Given the description of an element on the screen output the (x, y) to click on. 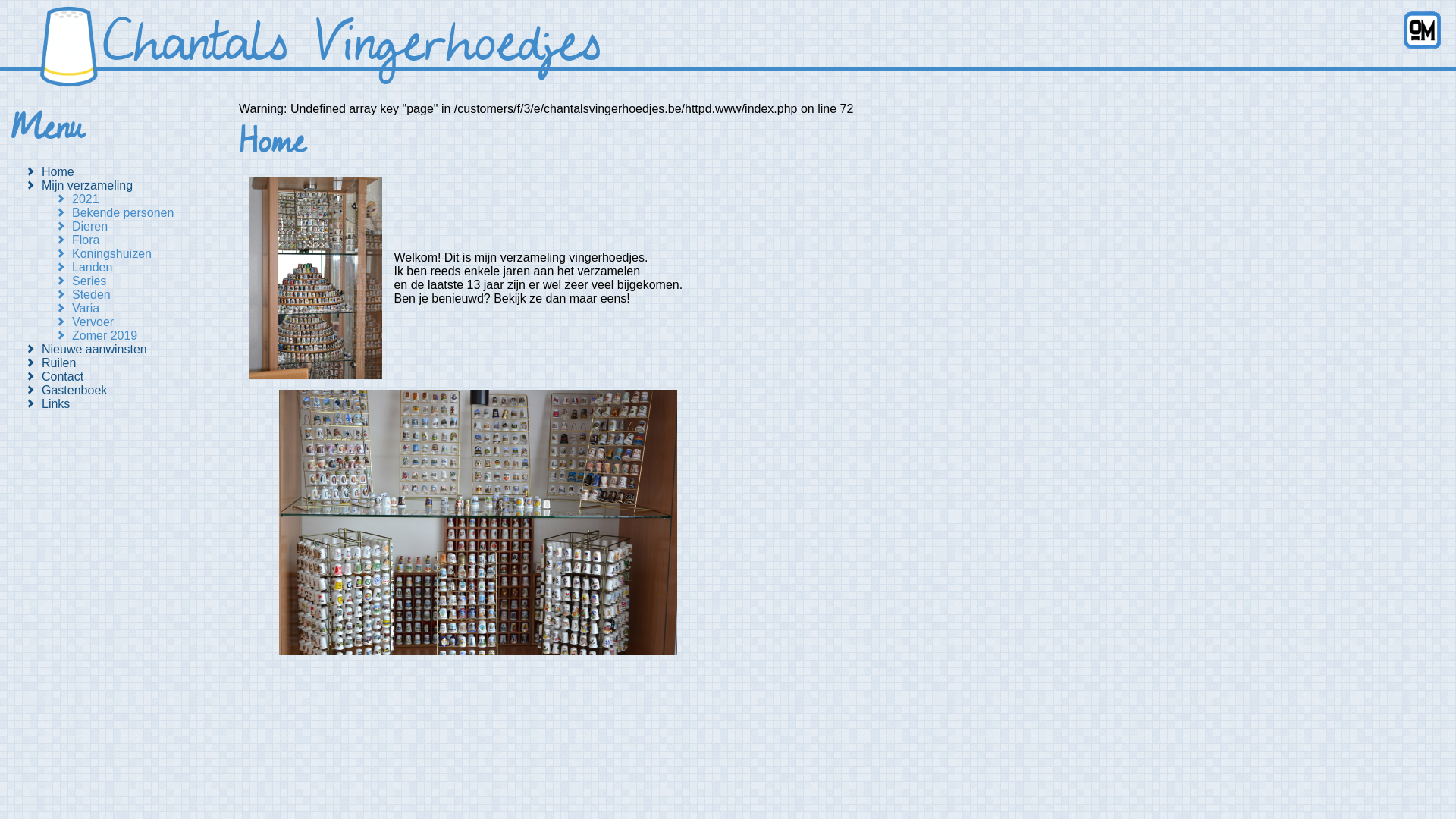
2021 Element type: text (144, 199)
Klik om te foto in het groot te openen. Element type: hover (462, 650)
Klik om te foto in het groot te openen. Element type: hover (315, 382)
Vervoer Element type: text (144, 322)
Dieren Element type: text (144, 226)
Landen Element type: text (144, 267)
Flora Element type: text (144, 240)
Mijn verzameling Element type: text (128, 185)
Links Element type: text (128, 404)
Zomer 2019 Element type: text (144, 335)
Home Element type: text (128, 171)
Nieuwe aanwinsten Element type: text (128, 349)
Contact Element type: text (128, 376)
Series Element type: text (144, 281)
Varia Element type: text (144, 308)
Gastenboek Element type: text (128, 390)
Bekende personen Element type: text (144, 212)
Ruilen Element type: text (128, 363)
Koningshuizen Element type: text (144, 253)
Steden Element type: text (144, 294)
